Given the description of an element on the screen output the (x, y) to click on. 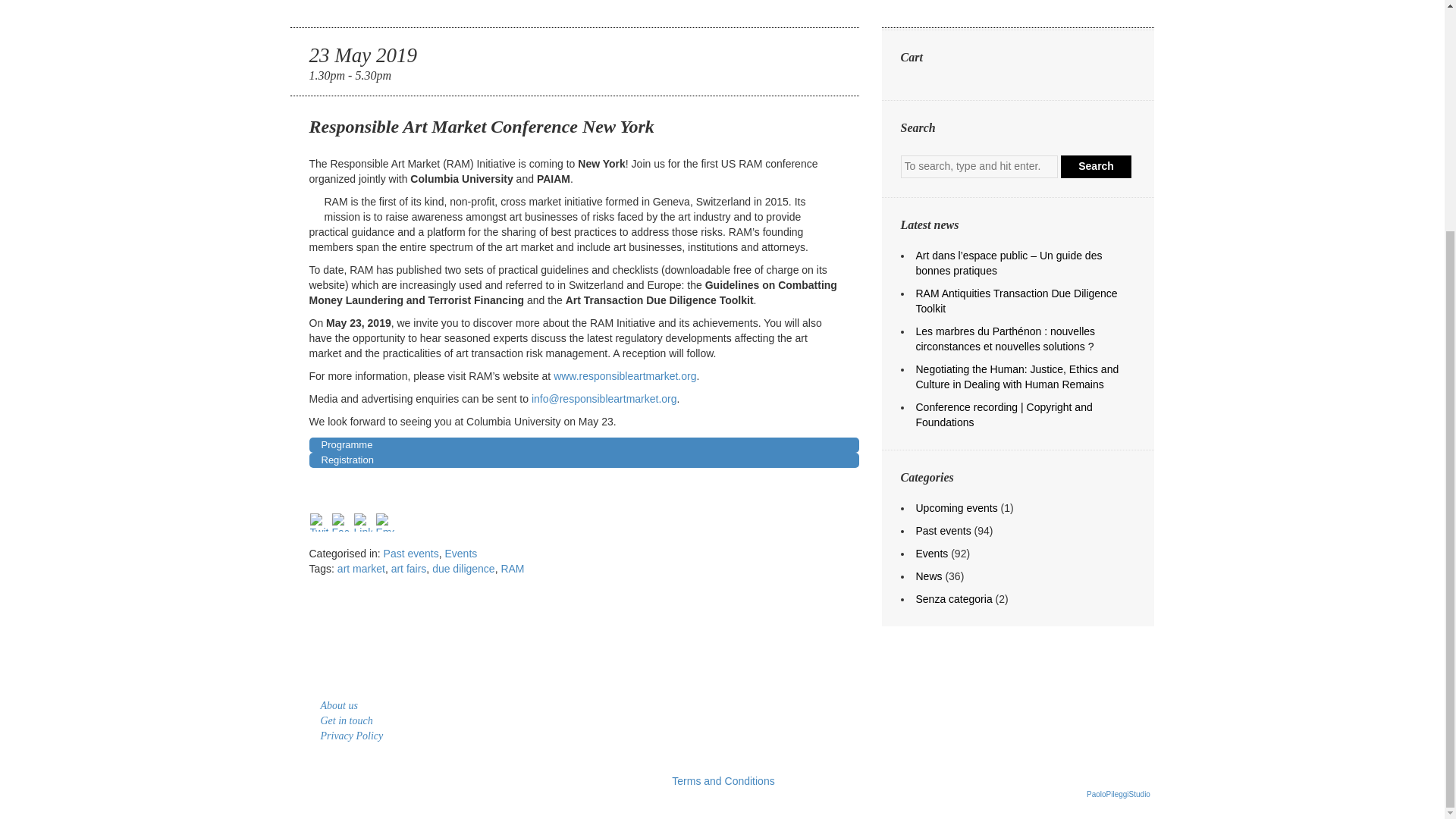
PPS (1118, 794)
www.responsibleartmarket.org (624, 376)
Events (460, 553)
RAM Antiquities Transaction Due Diligence Toolkit (1016, 300)
Linkedin (364, 520)
Programme (583, 444)
Past events (411, 553)
Email (386, 520)
Twitter (319, 520)
